Given the description of an element on the screen output the (x, y) to click on. 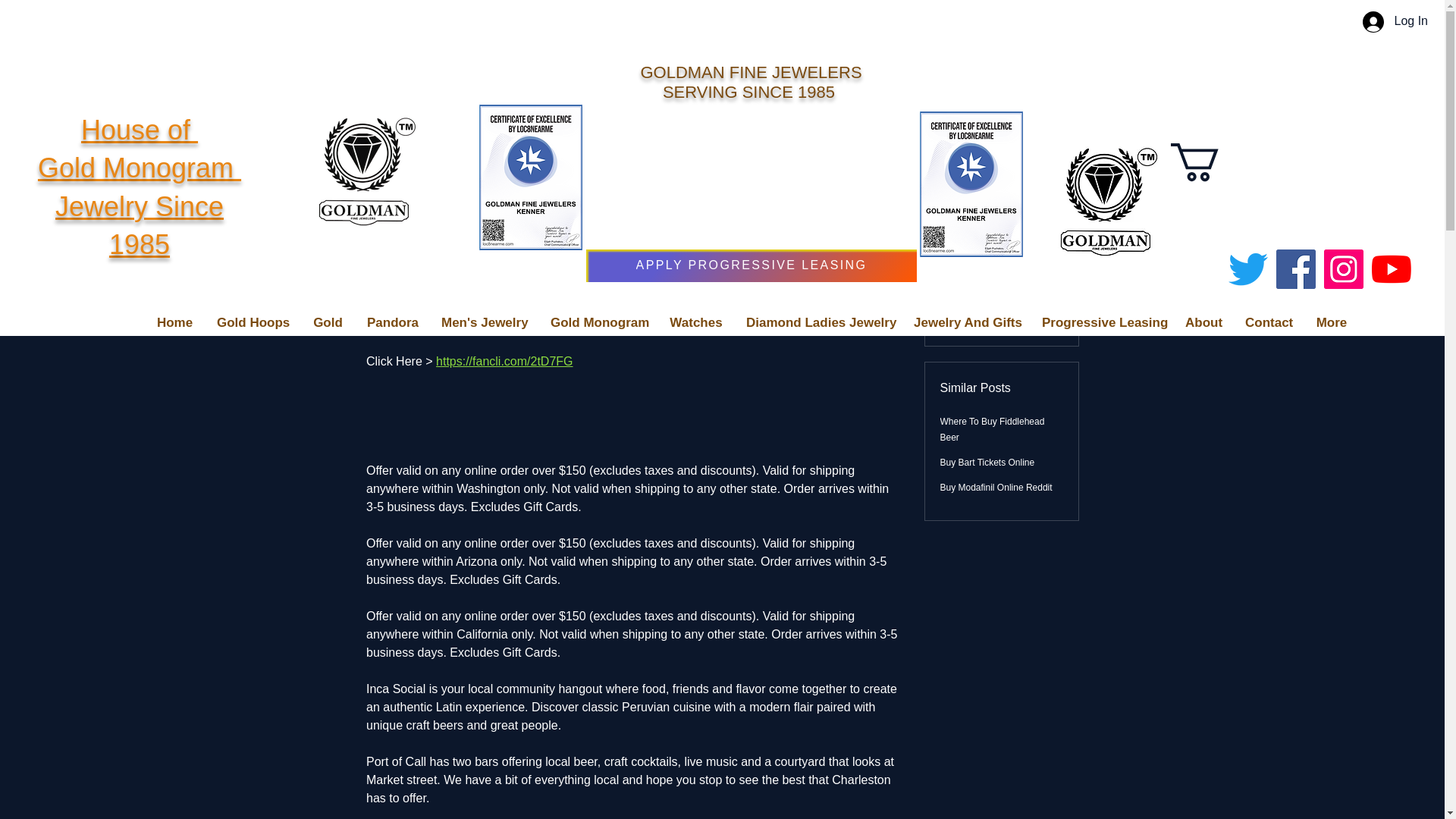
Goldman fine jewelers 3315 williams blvd (363, 169)
Home (174, 322)
Gold Monogram (598, 322)
Watches (695, 322)
APPLY PROGRESSIVE LEASING (751, 265)
Gold (327, 322)
Pandora (392, 322)
Gold Hoops (252, 322)
Log In (139, 187)
